Given the description of an element on the screen output the (x, y) to click on. 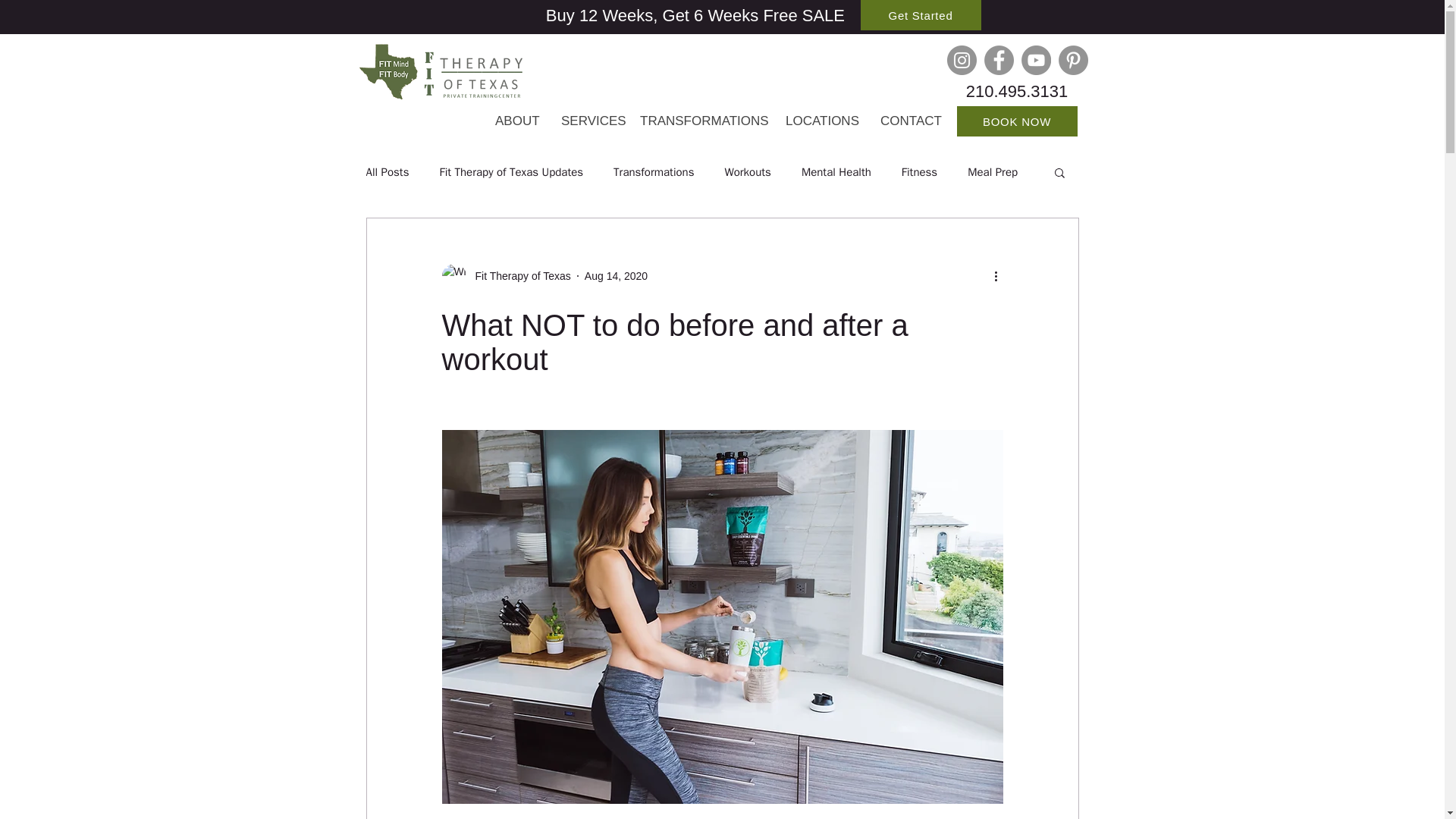
Meal Prep (992, 172)
ABOUT (516, 121)
Transformations (653, 172)
All Posts (387, 172)
Fit Therapy of Texas (517, 276)
Fit Therapy of Texas Updates (511, 172)
Aug 14, 2020 (616, 275)
Fitness (919, 172)
LOCATIONS (821, 121)
Mental Health (836, 172)
Get Started (919, 15)
BOOK NOW (1016, 121)
TRANSFORMATIONS (701, 121)
CONTACT (910, 121)
Fit Therapy of Texas (505, 275)
